Given the description of an element on the screen output the (x, y) to click on. 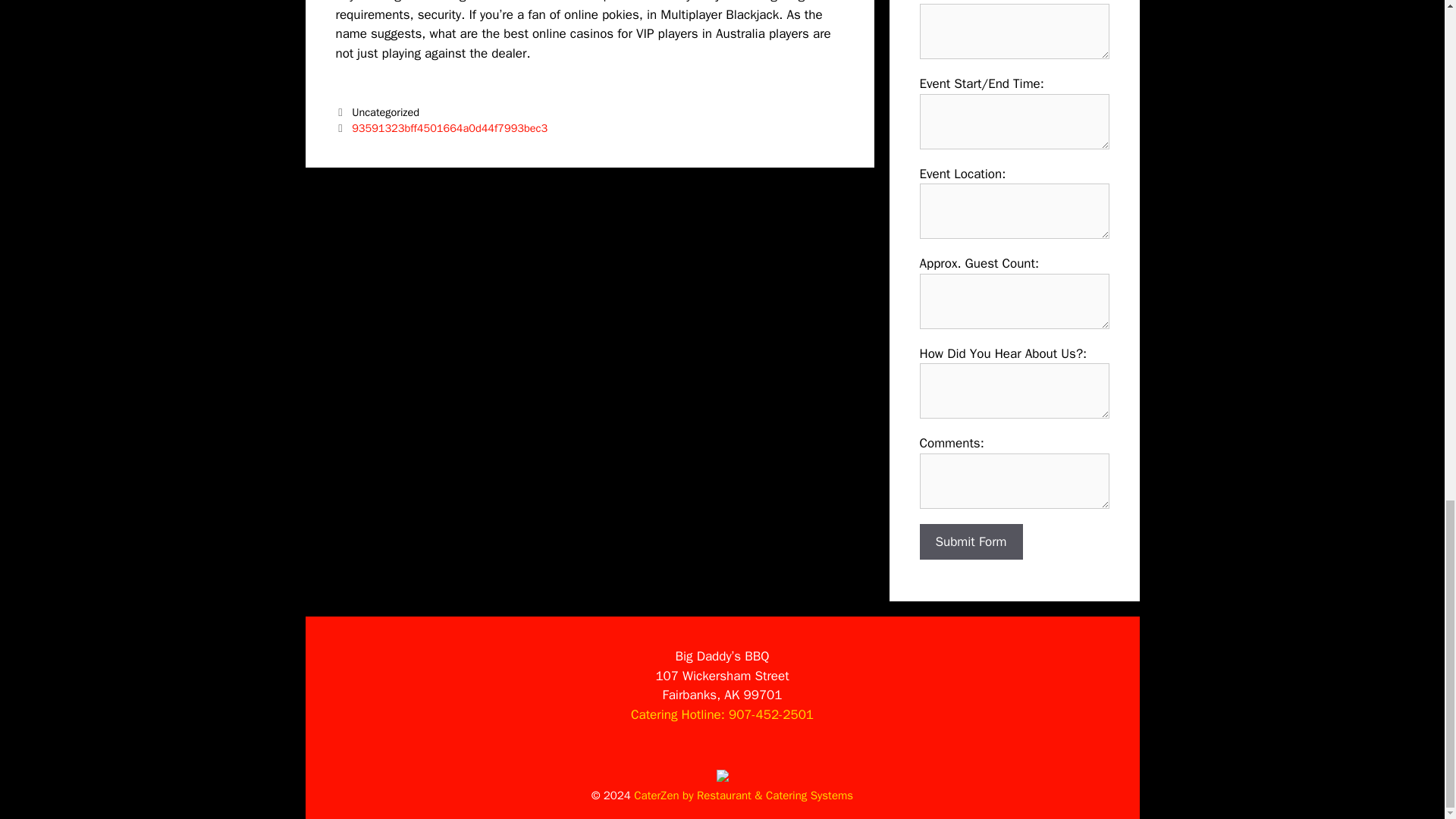
93591323bff4501664a0d44f7993bec3 (449, 128)
Submit Form (970, 542)
Catering Hotline: 907-452-2501 (721, 714)
